Given the description of an element on the screen output the (x, y) to click on. 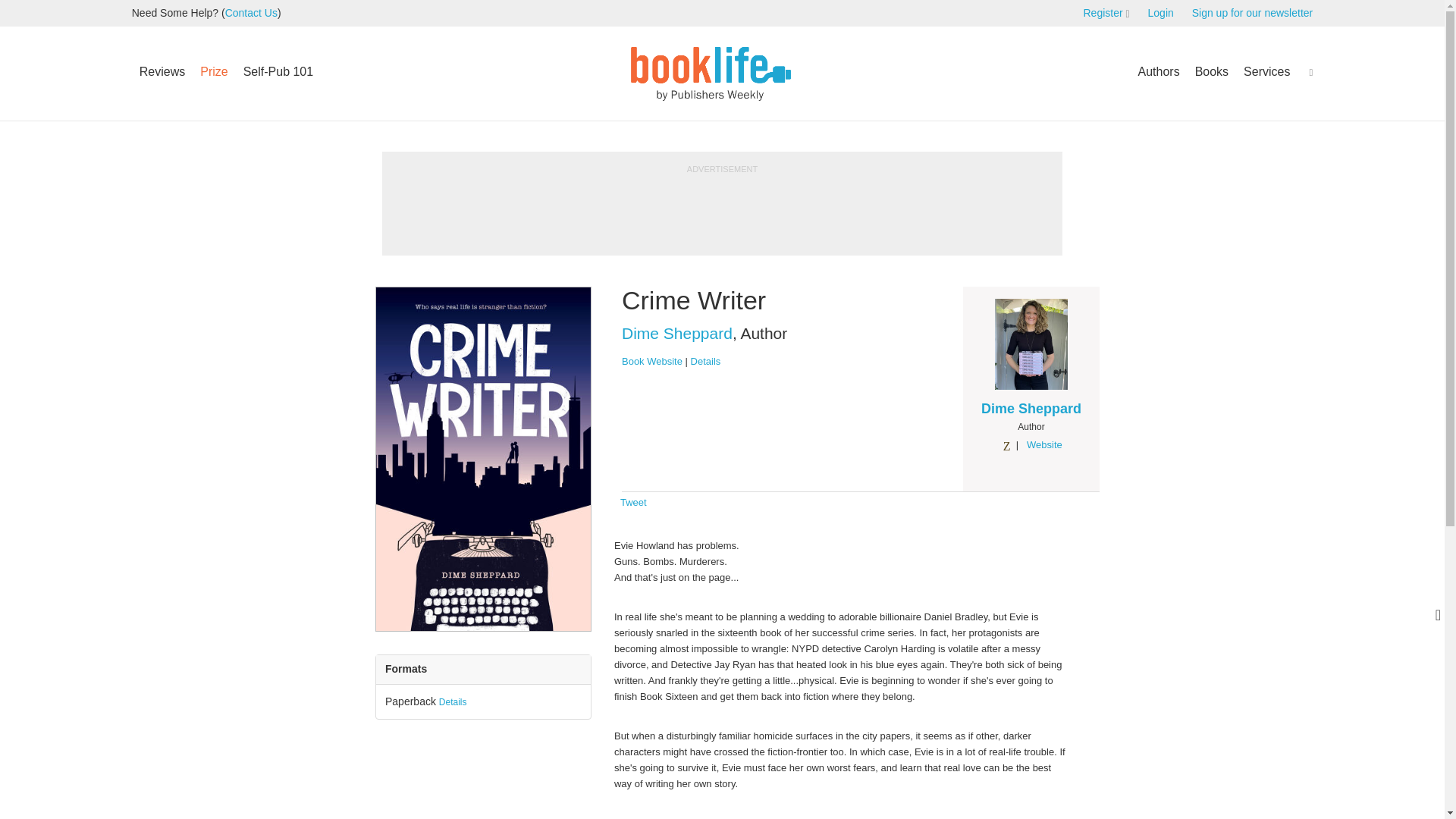
Prize (213, 71)
3rd party ad content (775, 210)
Details (705, 360)
Authors (1157, 71)
Books (1212, 71)
Sign up for our newsletter (1252, 12)
Login (1168, 12)
3rd party ad content (1323, 708)
Reviews (162, 71)
3rd party ad content (438, 210)
Details (453, 701)
Dime Sheppard (1031, 408)
Self-Pub 101 (278, 71)
Register (1102, 12)
Tweet (633, 501)
